Given the description of an element on the screen output the (x, y) to click on. 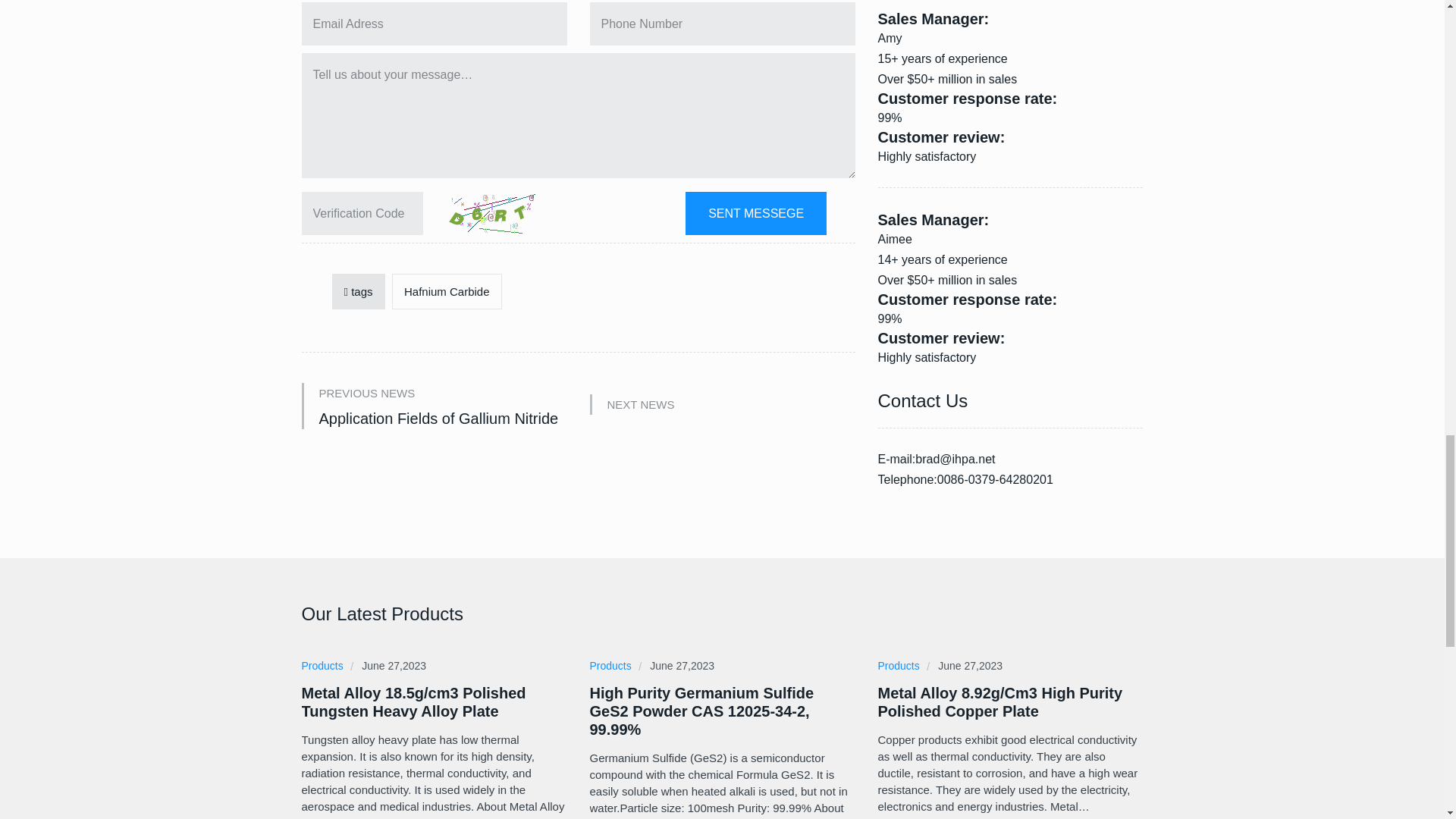
Sent Messege (756, 213)
